Given the description of an element on the screen output the (x, y) to click on. 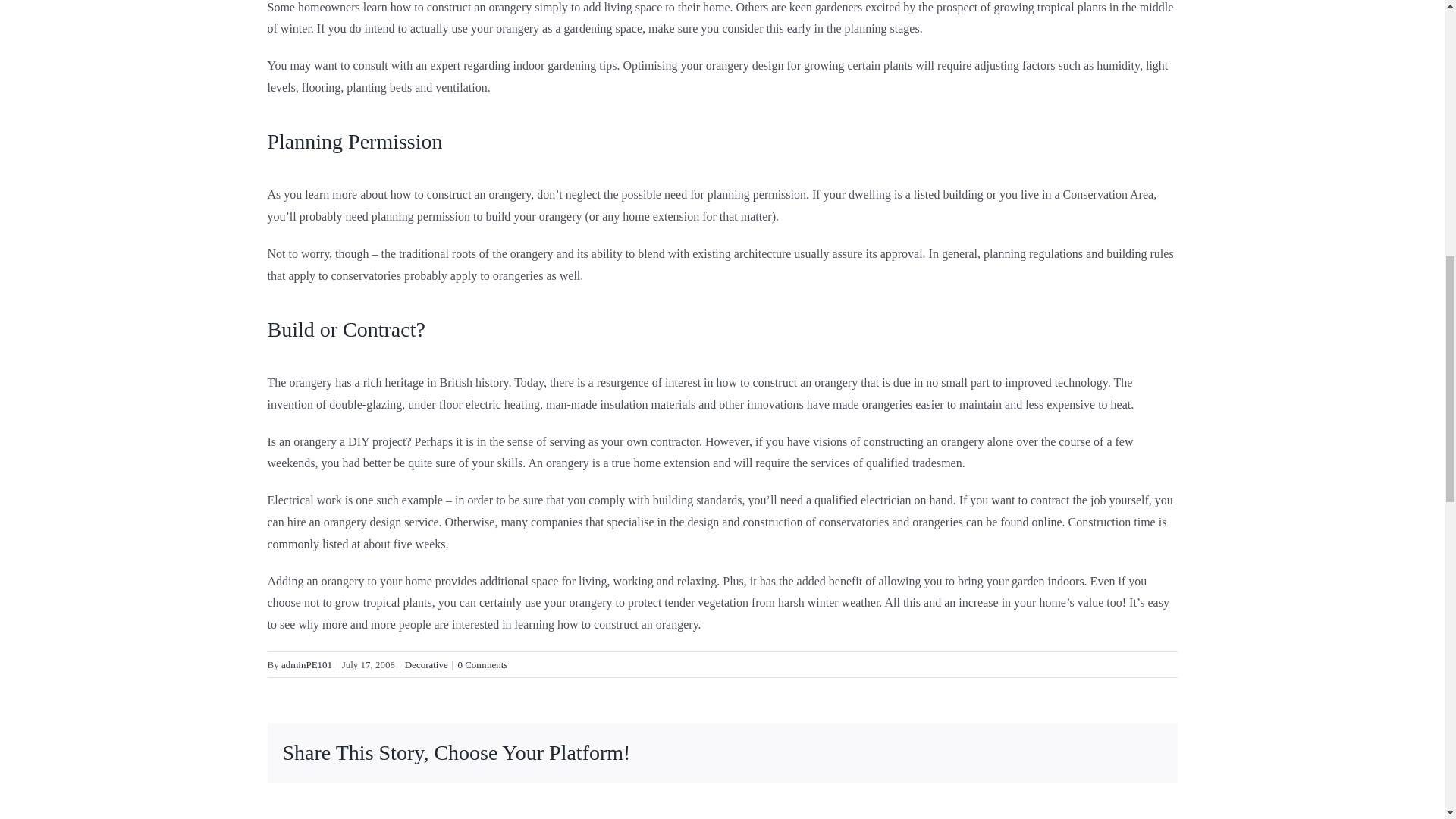
0 Comments (481, 664)
Decorative (426, 664)
Posts by adminPE101 (306, 664)
adminPE101 (306, 664)
